Given the description of an element on the screen output the (x, y) to click on. 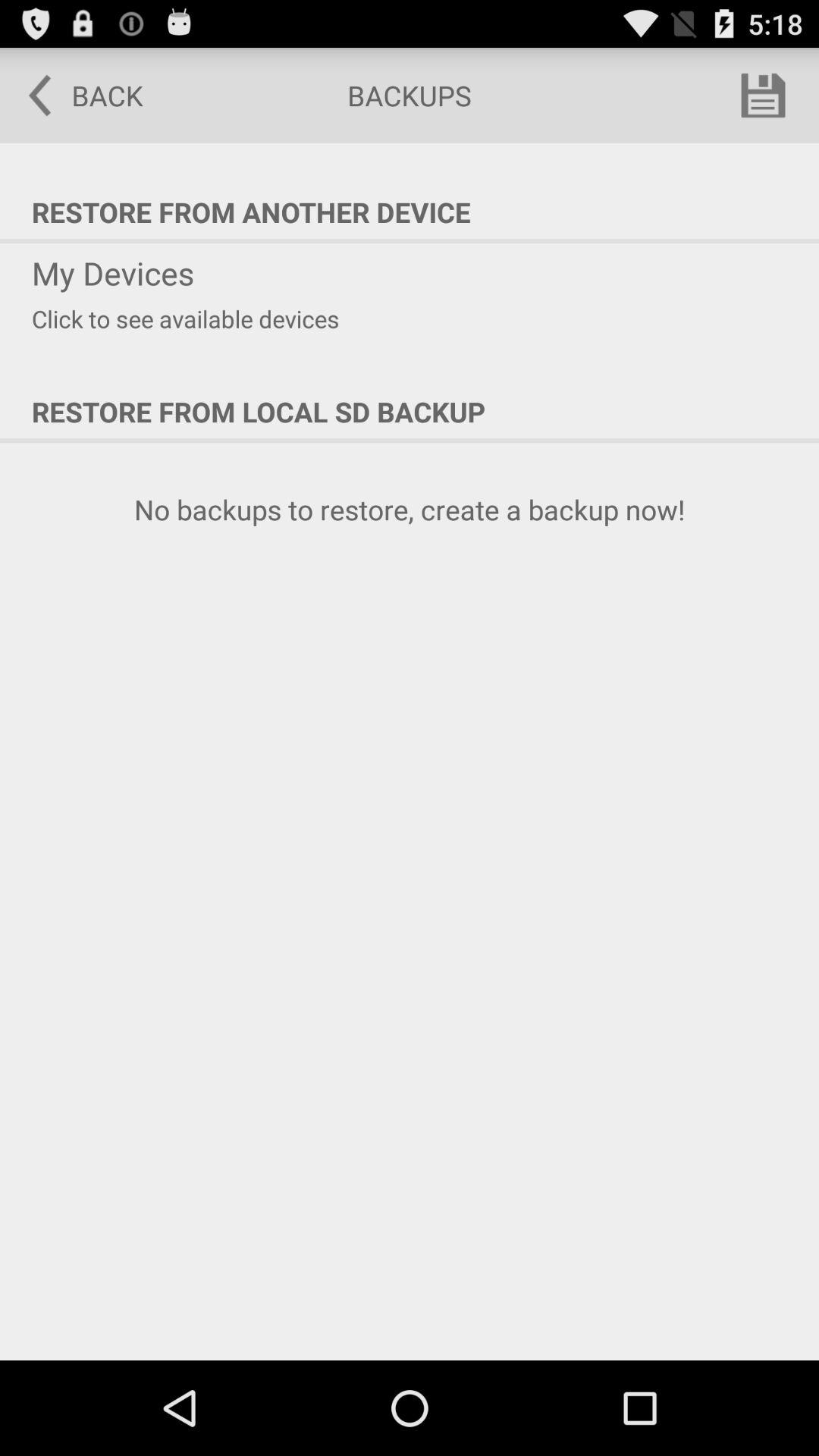
press the item to the left of the backups item (75, 95)
